Given the description of an element on the screen output the (x, y) to click on. 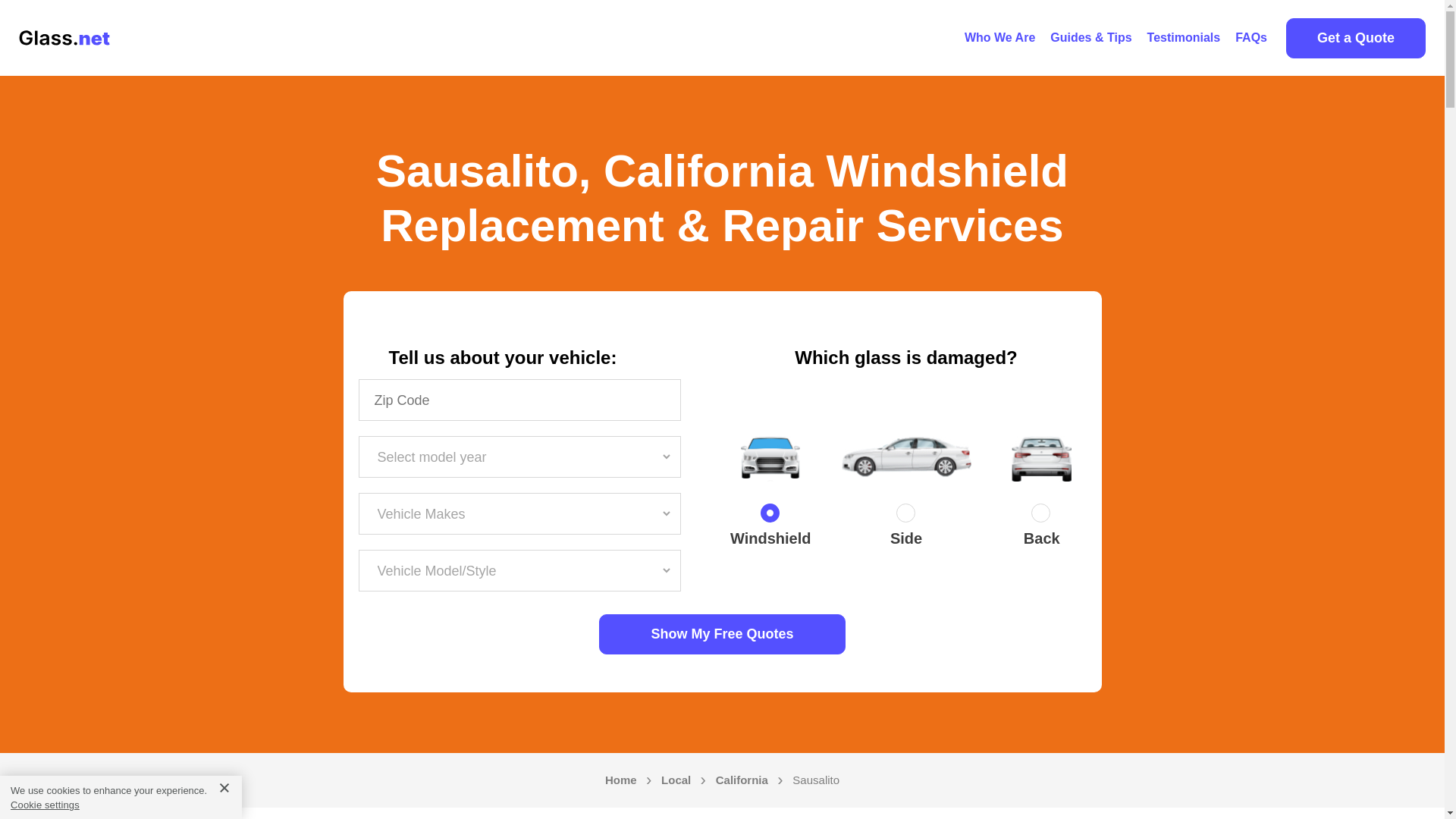
back (1041, 516)
How to Choose Auto Glass (1090, 37)
Show My Free Quotes (721, 634)
FAQs (1251, 37)
Get a Quote (1355, 38)
Who We Are (999, 37)
Testimonials (1184, 37)
Testimonials (1184, 37)
California (742, 780)
Sausalito (816, 780)
